Given the description of an element on the screen output the (x, y) to click on. 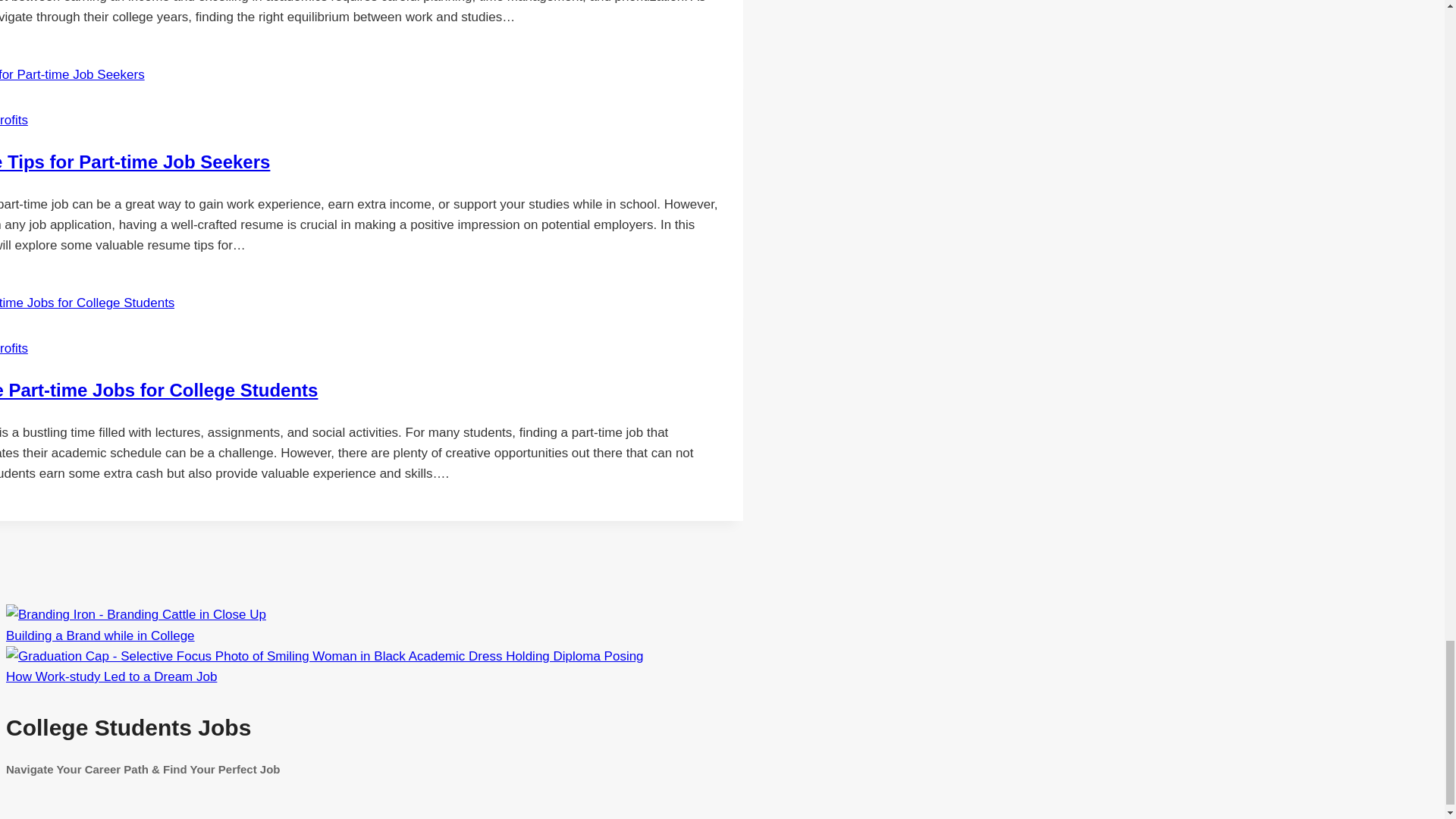
How Work-study Led to a Dream Job (324, 656)
Building a Brand while in College (100, 635)
Resume Tips for Part-time Job Seekers (134, 161)
Part-Time Profits (13, 348)
Creative Part-time Jobs for College Students (158, 390)
Building a Brand while in College (135, 614)
How Work-study Led to a Dream Job (110, 676)
Part-Time Profits (13, 120)
